Given the description of an element on the screen output the (x, y) to click on. 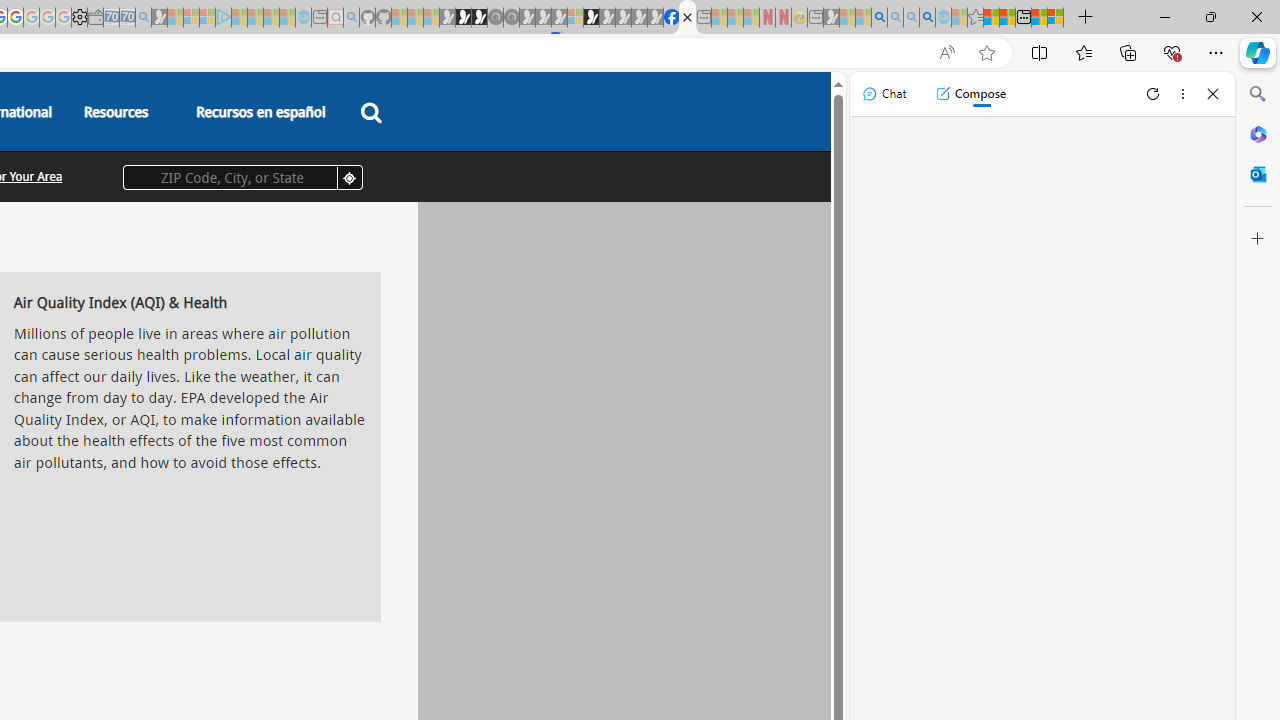
Sign in to your account - Sleeping (575, 17)
github - Search - Sleeping (351, 17)
